Given the description of an element on the screen output the (x, y) to click on. 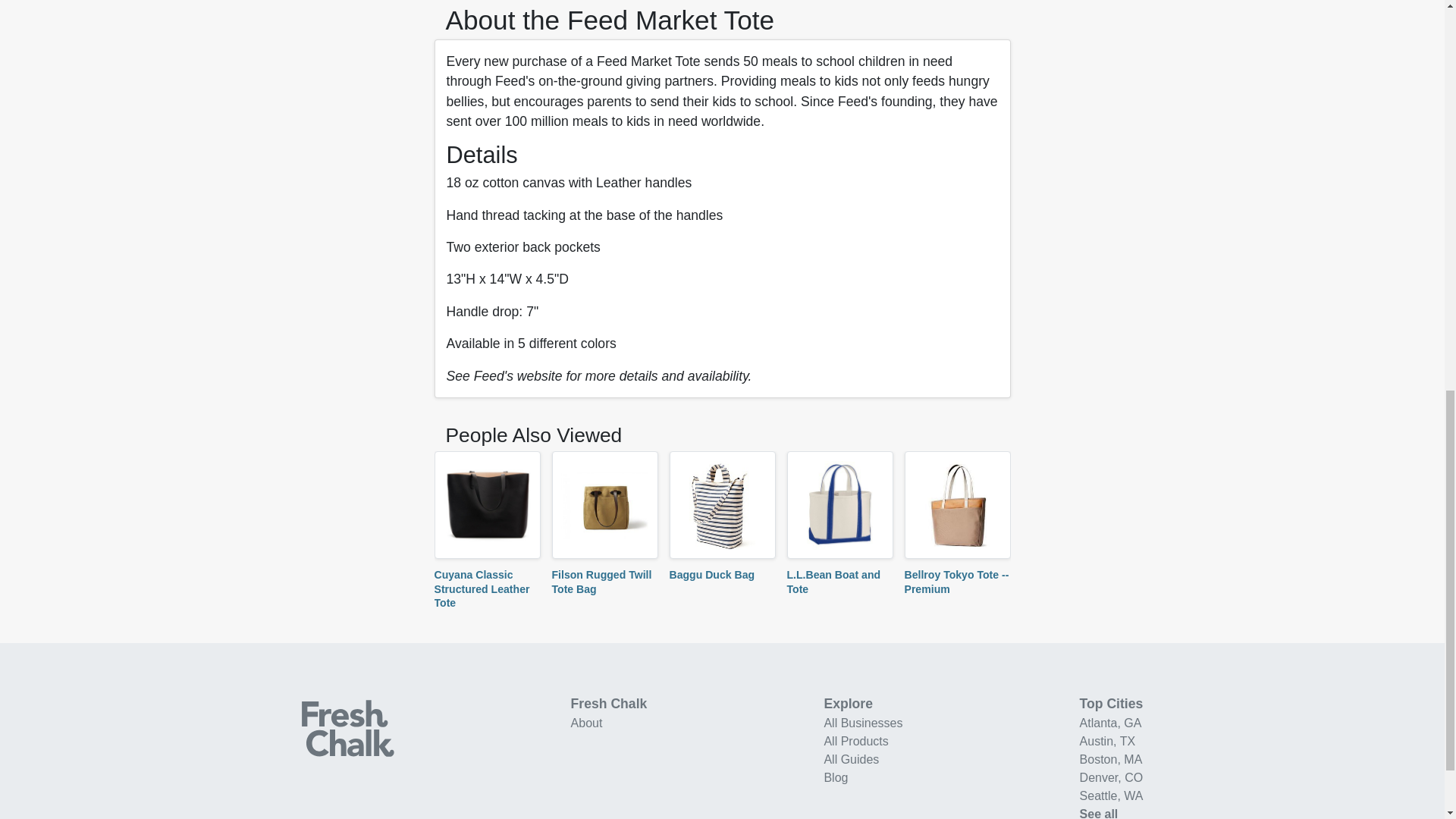
Bellroy Tokyo Tote -- Premium (956, 581)
Boston, MA (1111, 758)
Austin, TX (1107, 740)
L.L.Bean Boat and Tote (833, 581)
About (586, 722)
All Products (856, 740)
Filson Rugged Twill Tote Bag (601, 581)
All Guides (851, 758)
Atlanta, GA (1110, 722)
Denver, CO (1111, 777)
See all (1099, 813)
Seattle, WA (1111, 795)
Blog (835, 777)
Baggu Duck Bag (711, 574)
Cuyana Classic Structured Leather Tote (481, 588)
